Given the description of an element on the screen output the (x, y) to click on. 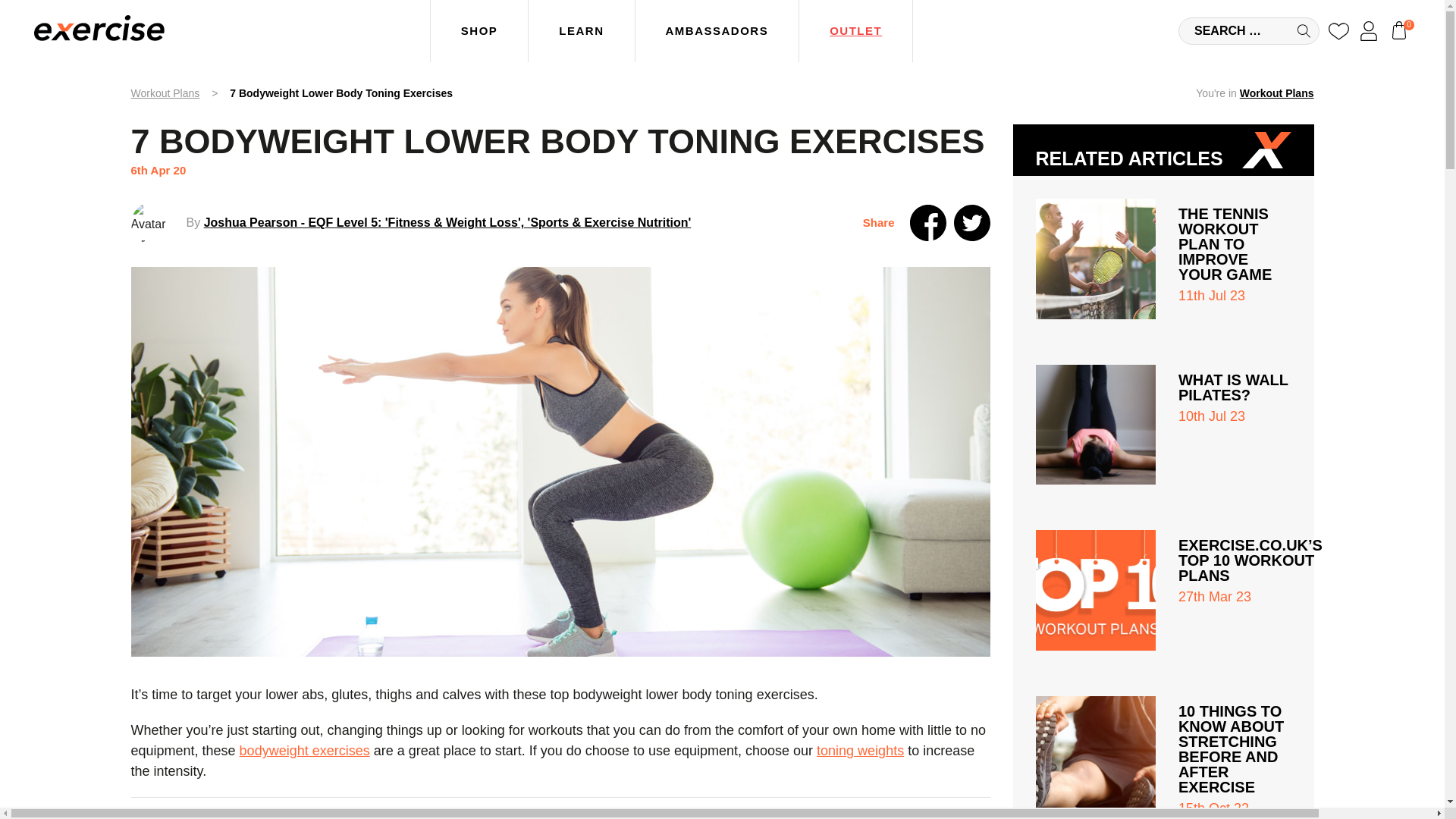
SHOP (479, 31)
Shop (479, 31)
